Given the description of an element on the screen output the (x, y) to click on. 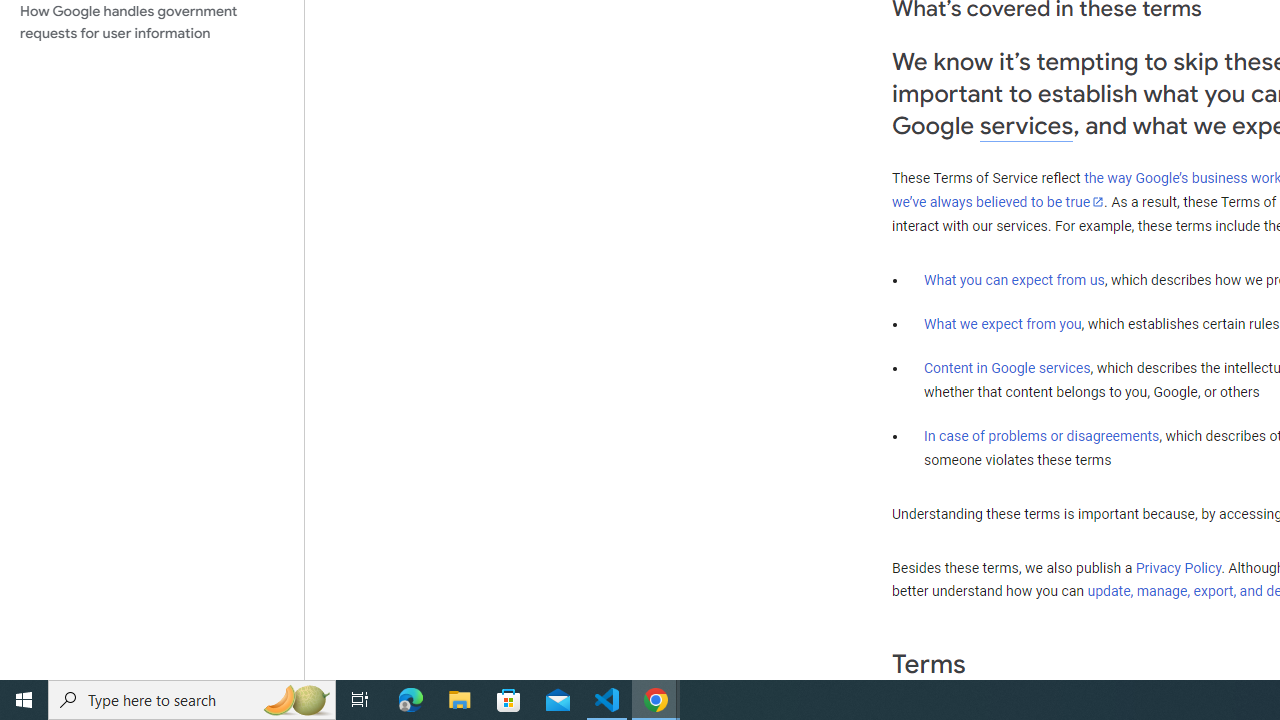
What we expect from you (1002, 323)
What you can expect from us (1014, 279)
